Given the description of an element on the screen output the (x, y) to click on. 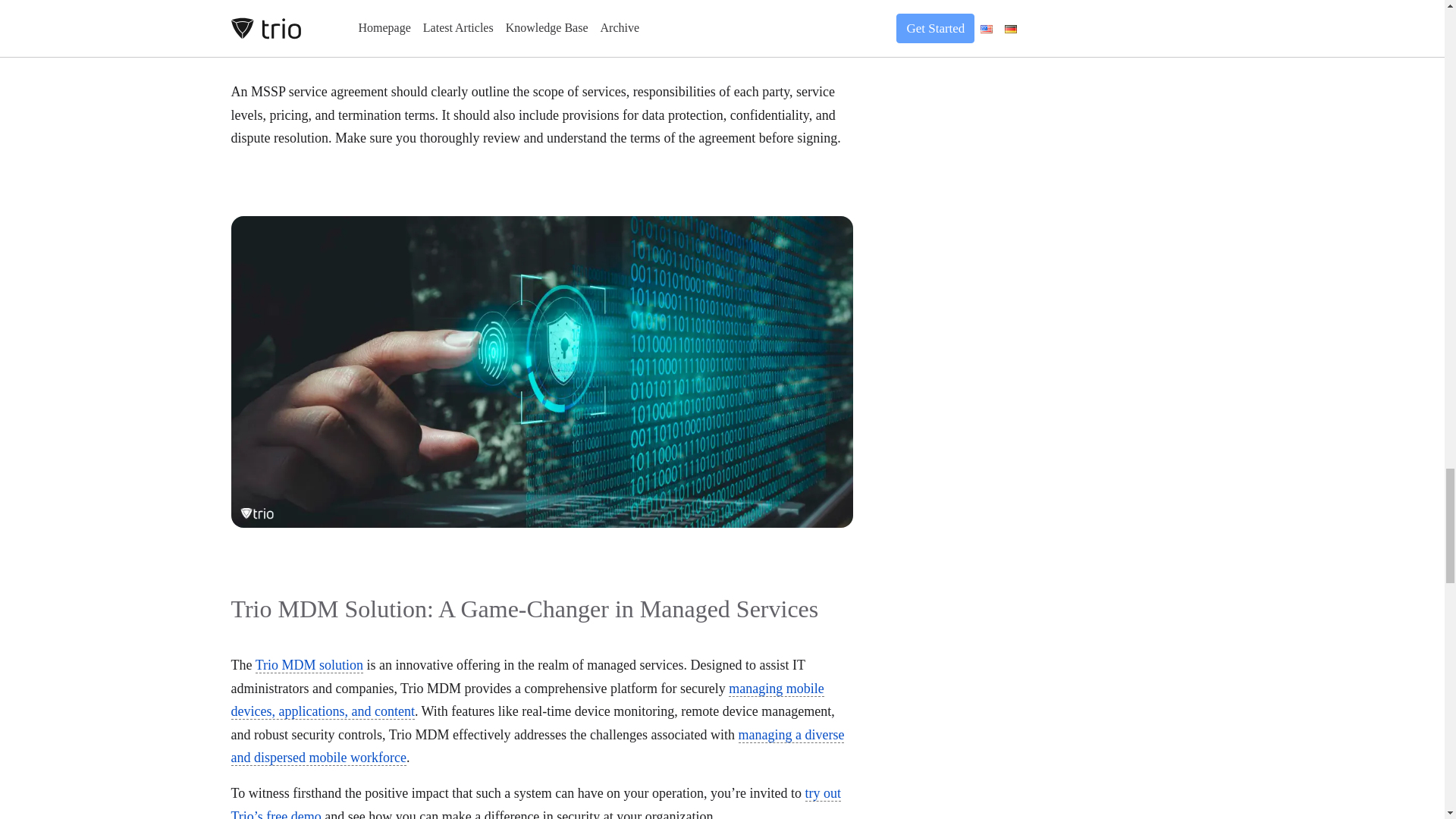
Trio MDM solution (309, 665)
managing mobile devices, applications, and content (527, 700)
managing a diverse and dispersed mobile workforce (537, 746)
